Given the description of an element on the screen output the (x, y) to click on. 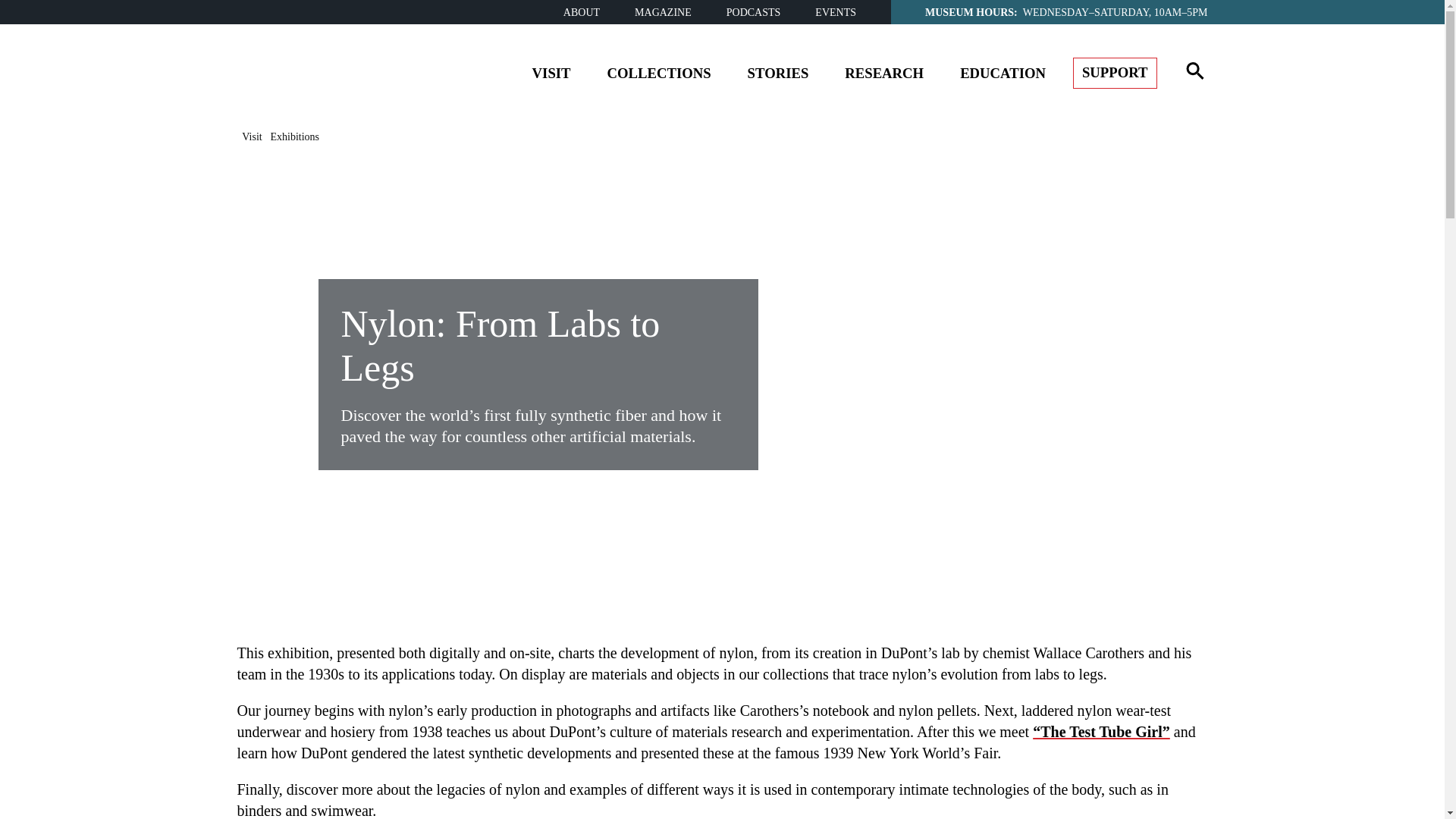
RESEARCH (884, 75)
COLLECTIONS (659, 75)
ABOUT (581, 12)
VISIT (551, 75)
PODCASTS (753, 12)
MAGAZINE (663, 12)
EDUCATION (1002, 75)
STORIES (777, 75)
MUSEUM HOURS (968, 11)
EVENTS (835, 12)
